Given the description of an element on the screen output the (x, y) to click on. 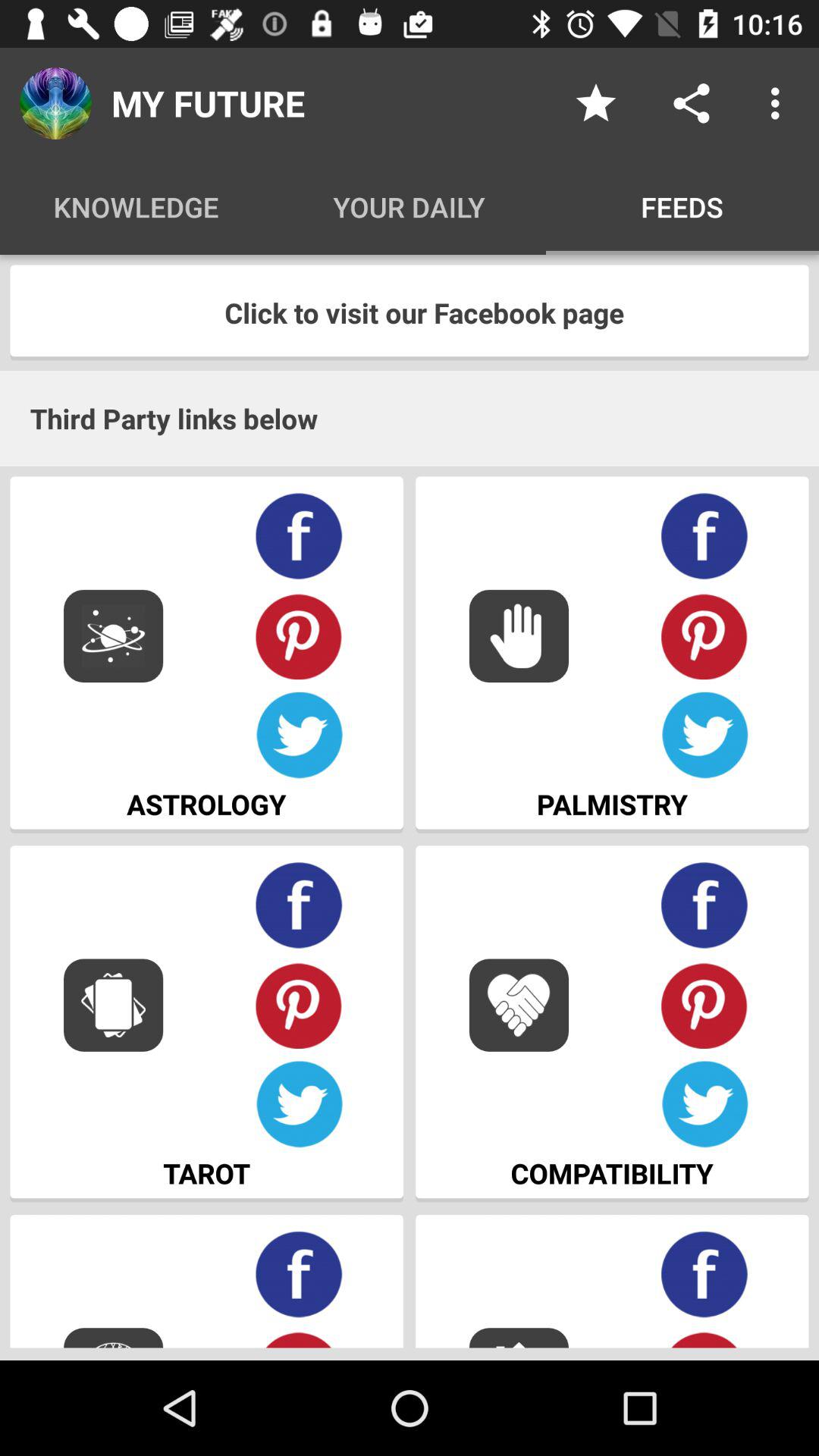
open pinterest (704, 635)
